Given the description of an element on the screen output the (x, y) to click on. 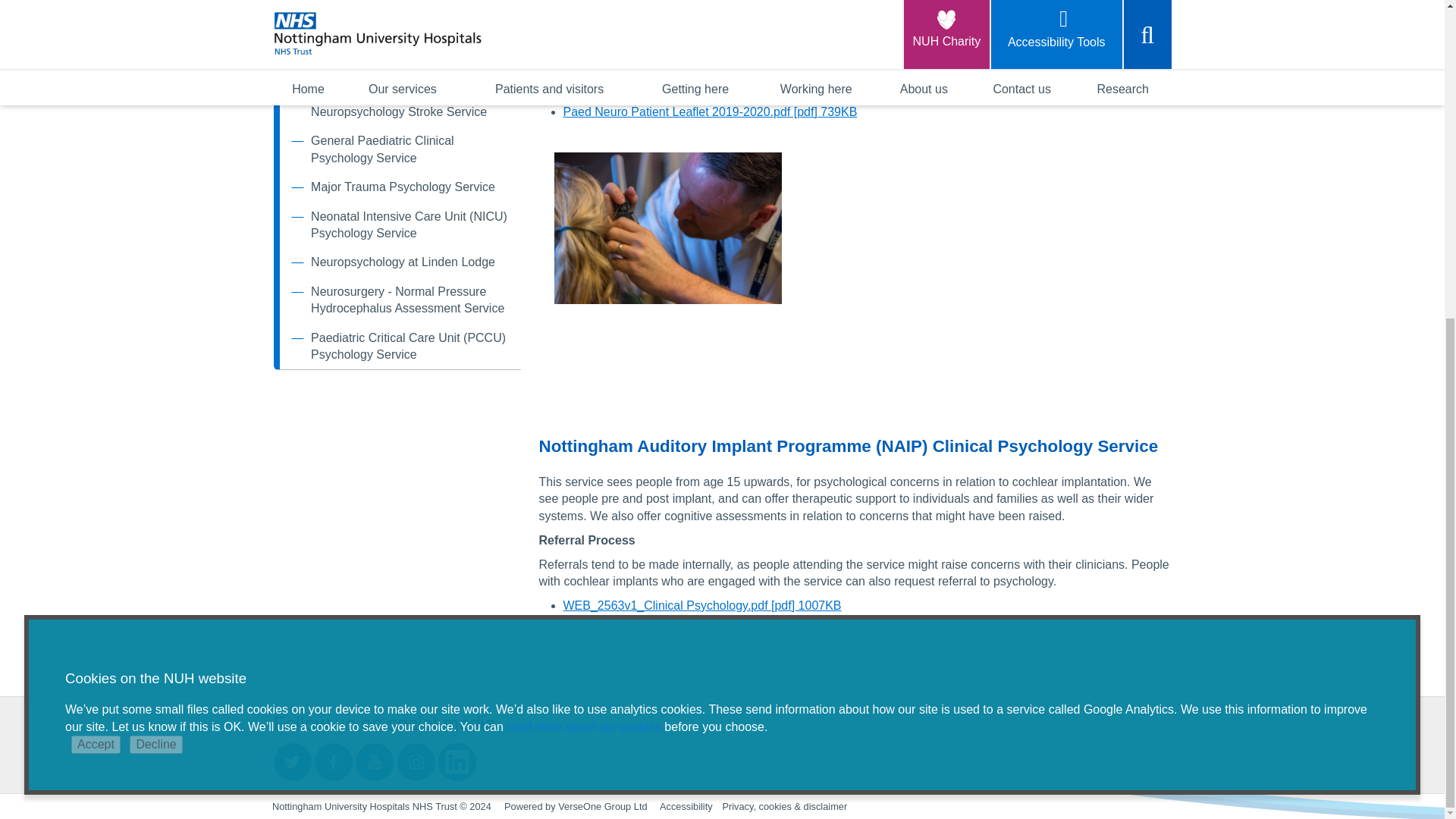
Accept (95, 229)
Opens in a new window (375, 760)
Opens in a new window (417, 760)
download this document in a new window (709, 111)
Opens in a new window (457, 760)
Link to NUH Twitter account (292, 761)
download this document in a new window (701, 604)
Opens in a new window (293, 760)
Opens in a new window (334, 760)
Decline (155, 229)
